Given the description of an element on the screen output the (x, y) to click on. 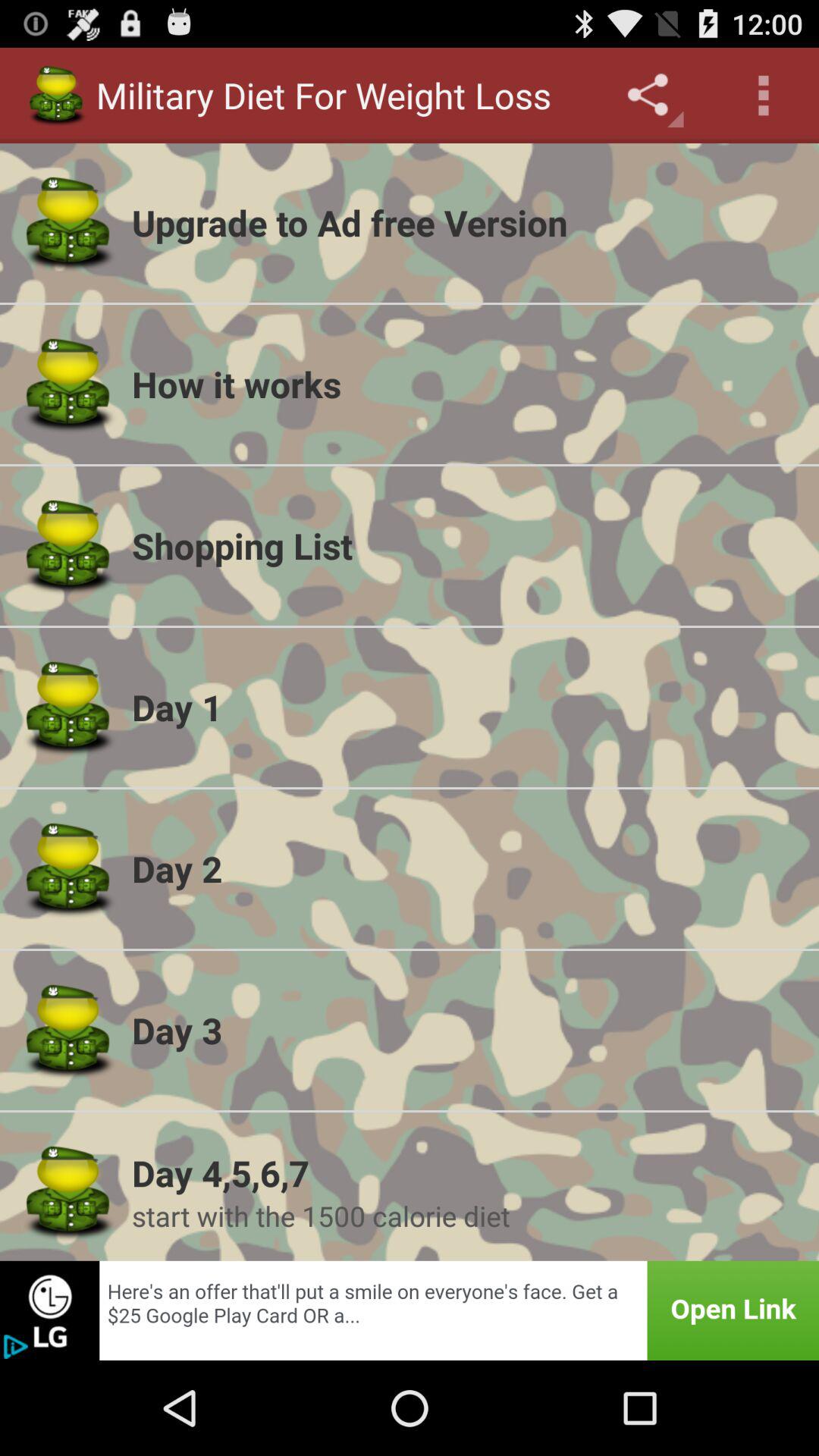
choose app below the day 1 app (465, 868)
